Given the description of an element on the screen output the (x, y) to click on. 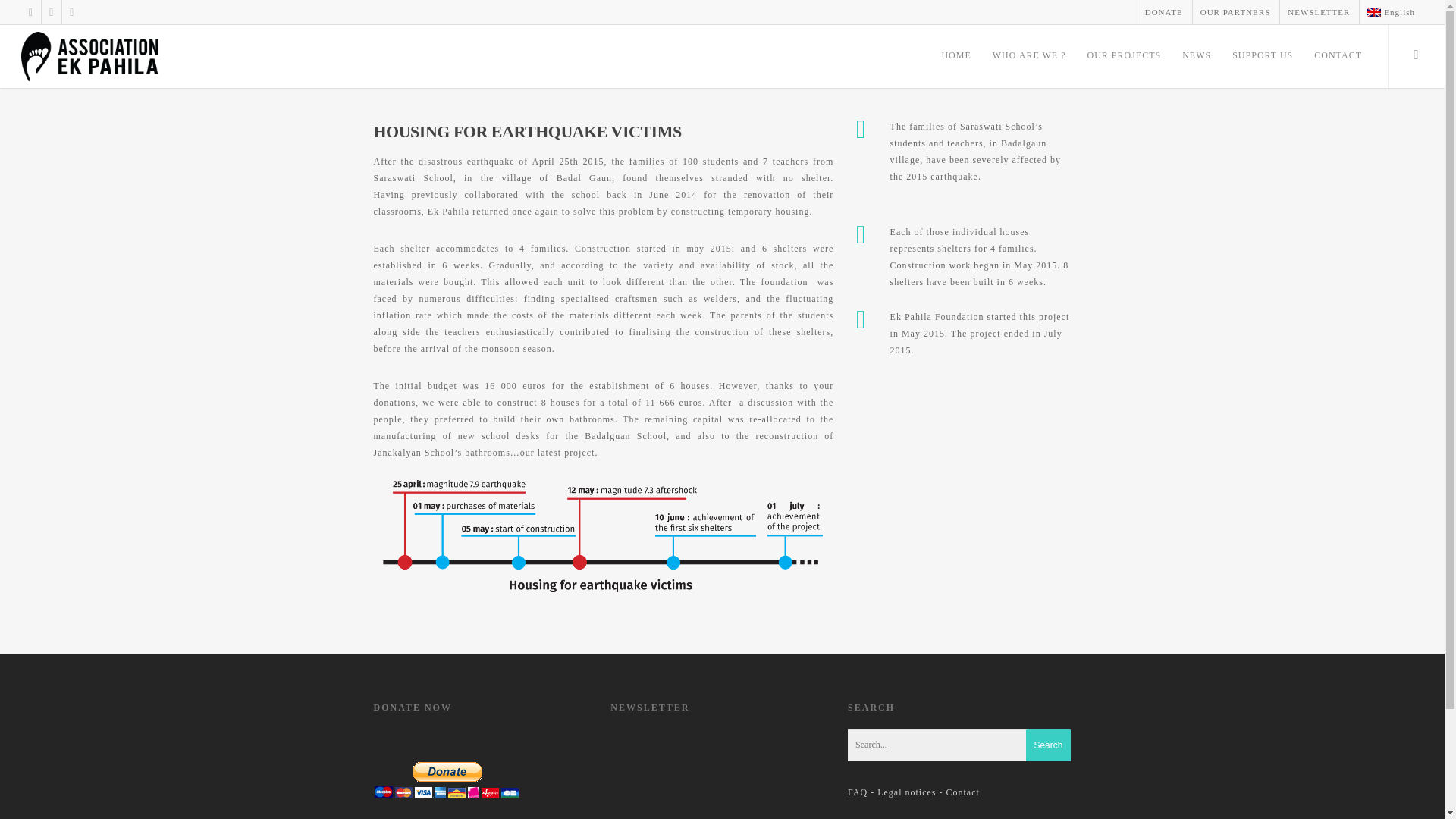
Search (1048, 745)
English (1373, 11)
FAQ (857, 792)
DONATE (1164, 12)
Search for: (958, 744)
Search (1048, 745)
HOME (955, 58)
Legal notices (906, 792)
OUR PARTNERS (1235, 12)
English (1390, 12)
NEWSLETTER (1317, 12)
SUPPORT US (1263, 58)
OUR PROJECTS (1123, 58)
Contact (962, 792)
WHO ARE WE ? (1028, 58)
